Given the description of an element on the screen output the (x, y) to click on. 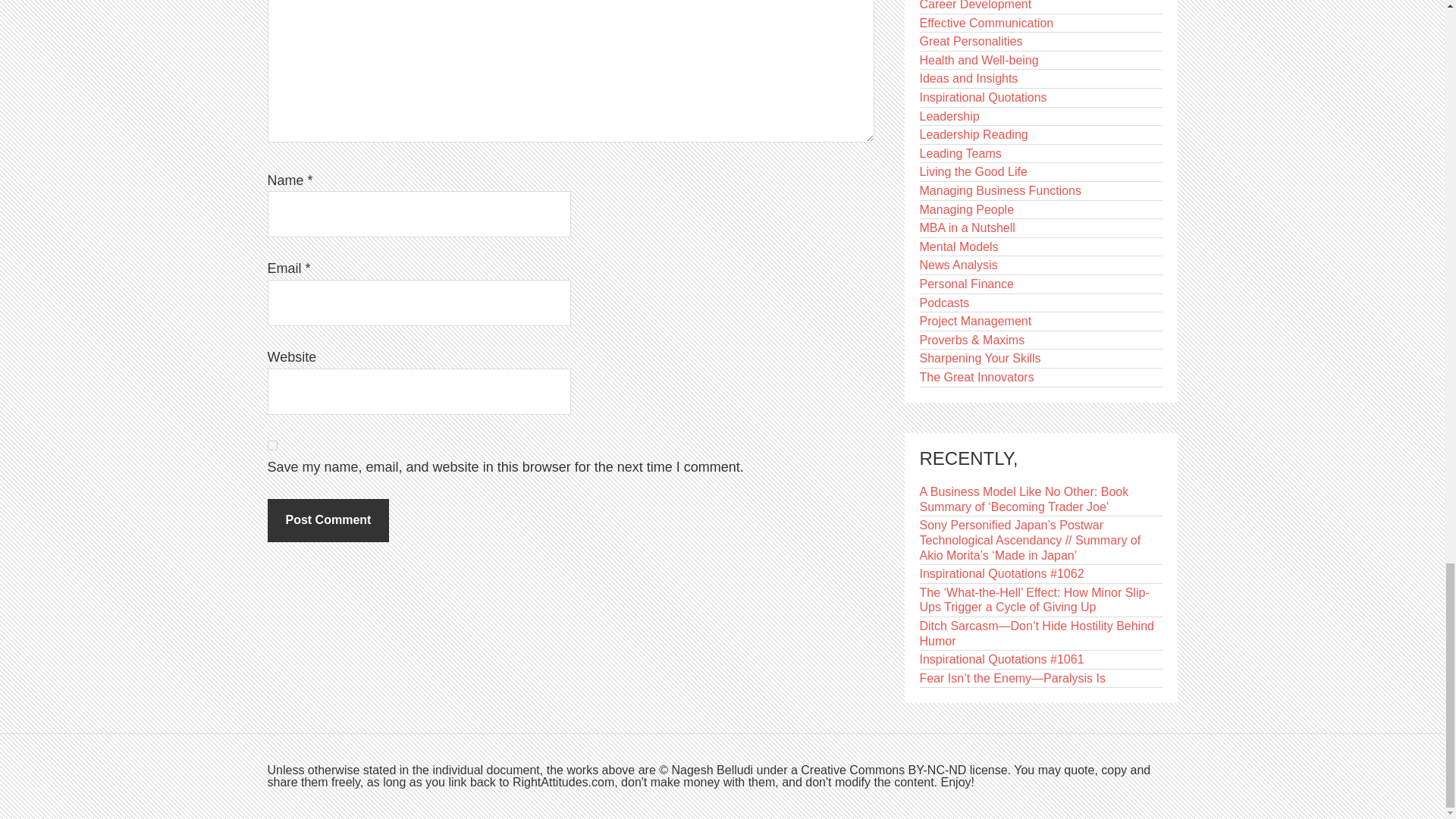
Post Comment (327, 519)
Post Comment (327, 519)
yes (271, 445)
